Given the description of an element on the screen output the (x, y) to click on. 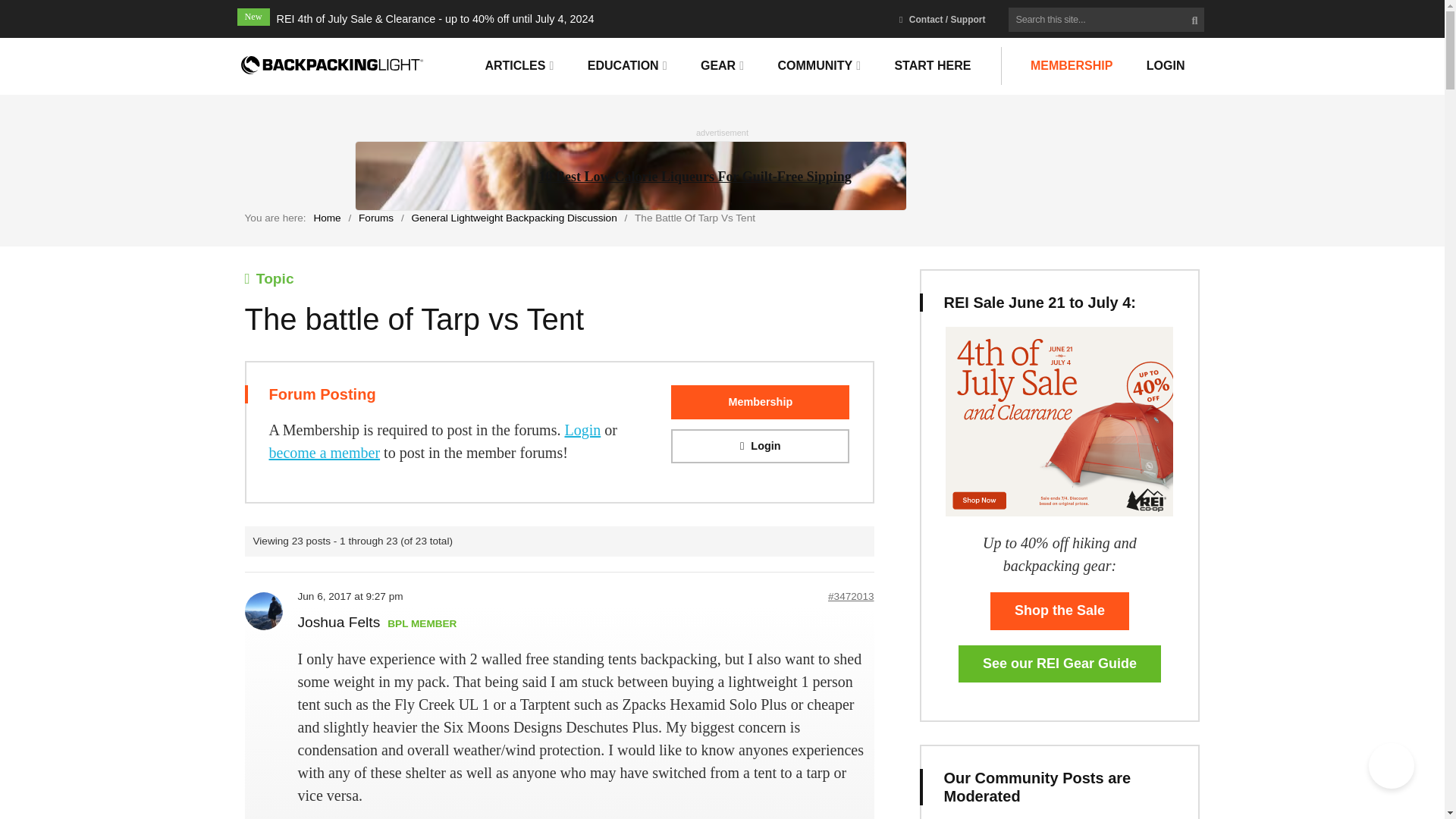
ARTICLES (518, 65)
Search for: (1106, 19)
EDUCATION (627, 65)
COMMUNITY (818, 65)
View Joshua Felts's profile (338, 622)
GEAR (721, 65)
